Given the description of an element on the screen output the (x, y) to click on. 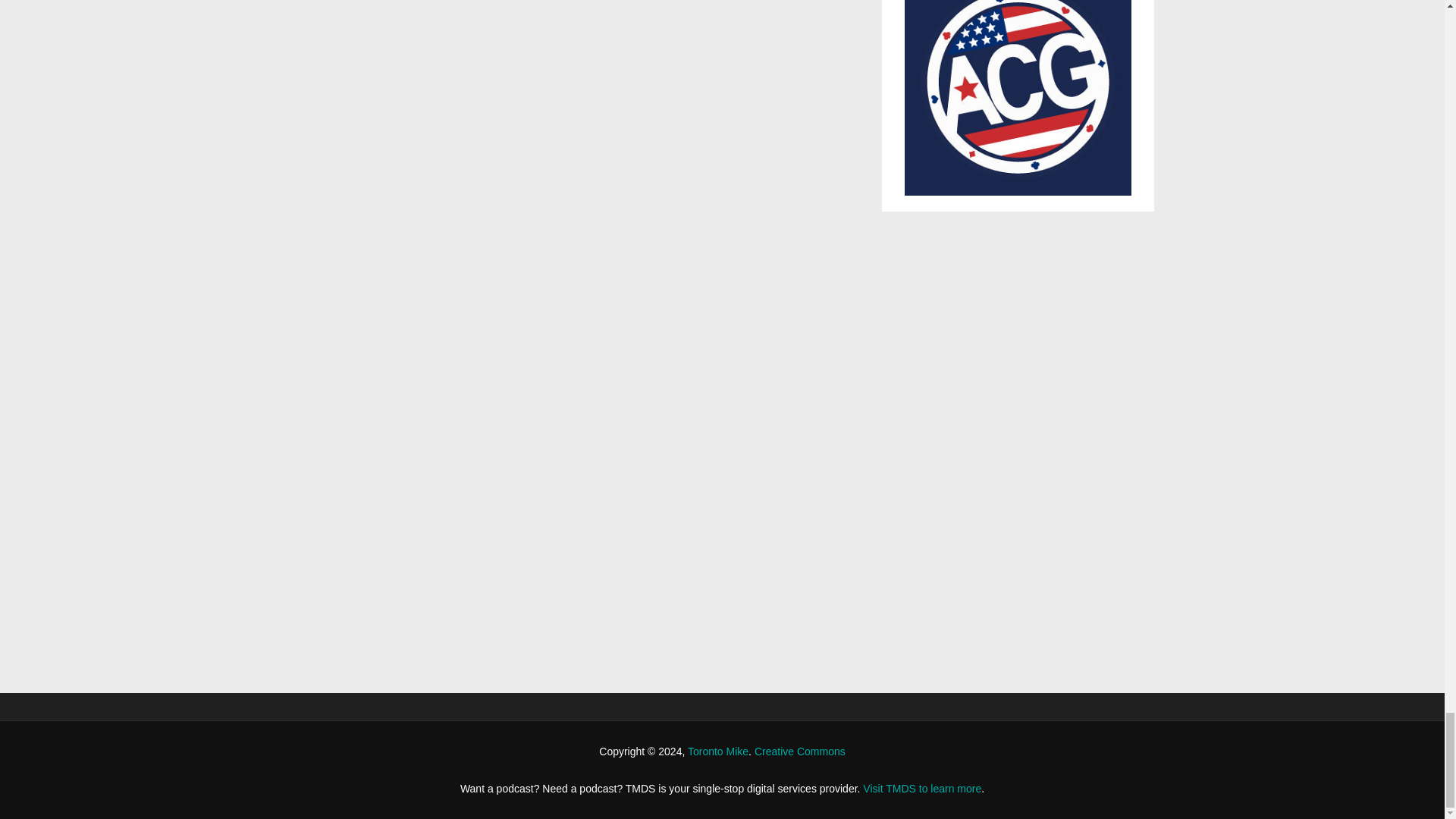
acg casino (1017, 97)
